Given the description of an element on the screen output the (x, y) to click on. 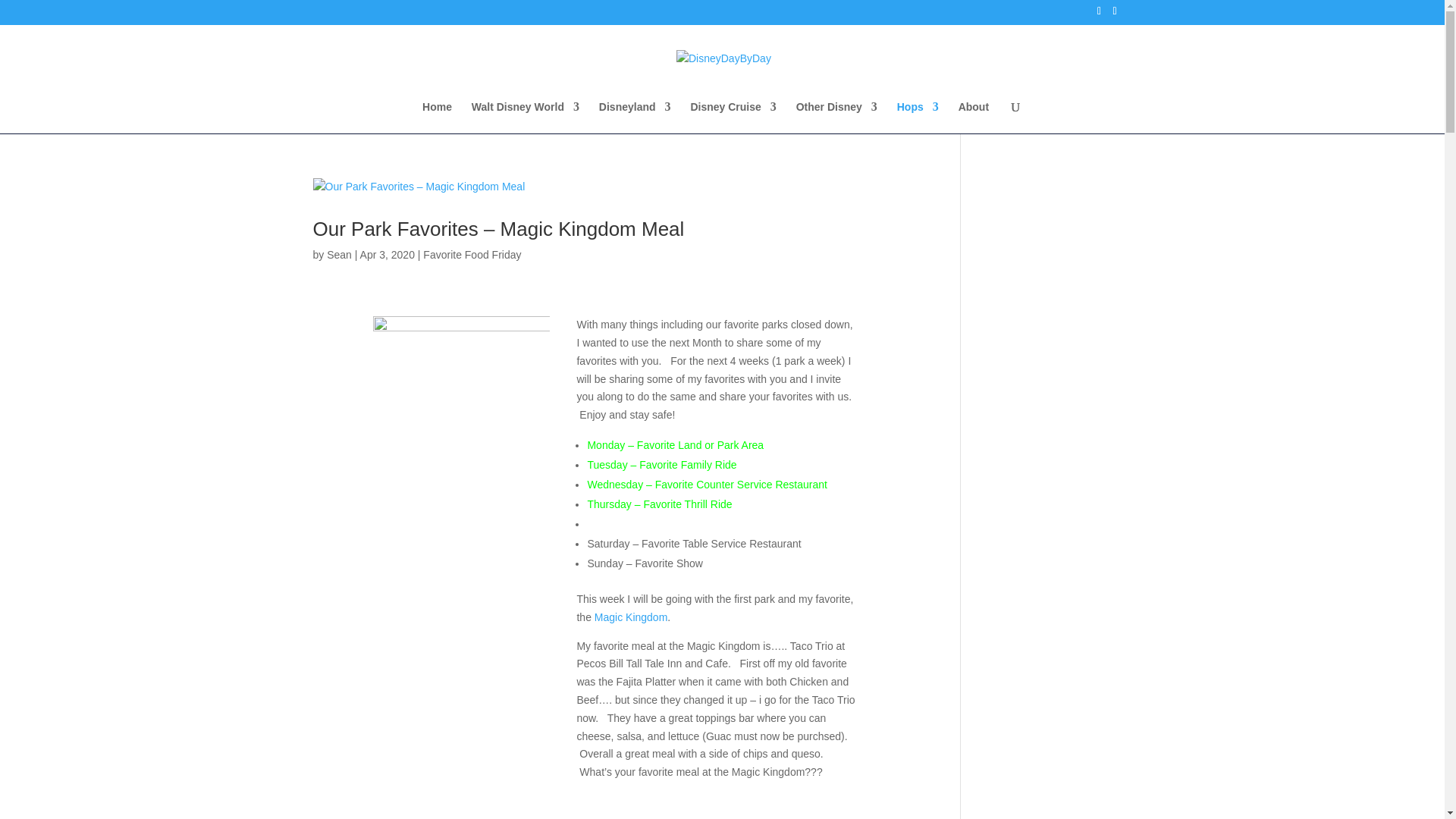
Disney Cruise (733, 117)
Take Me Home (436, 117)
Posts by Sean (339, 254)
Disneyland (634, 117)
Walt Disney World (525, 117)
Other Disney (836, 117)
Home (436, 117)
